Given the description of an element on the screen output the (x, y) to click on. 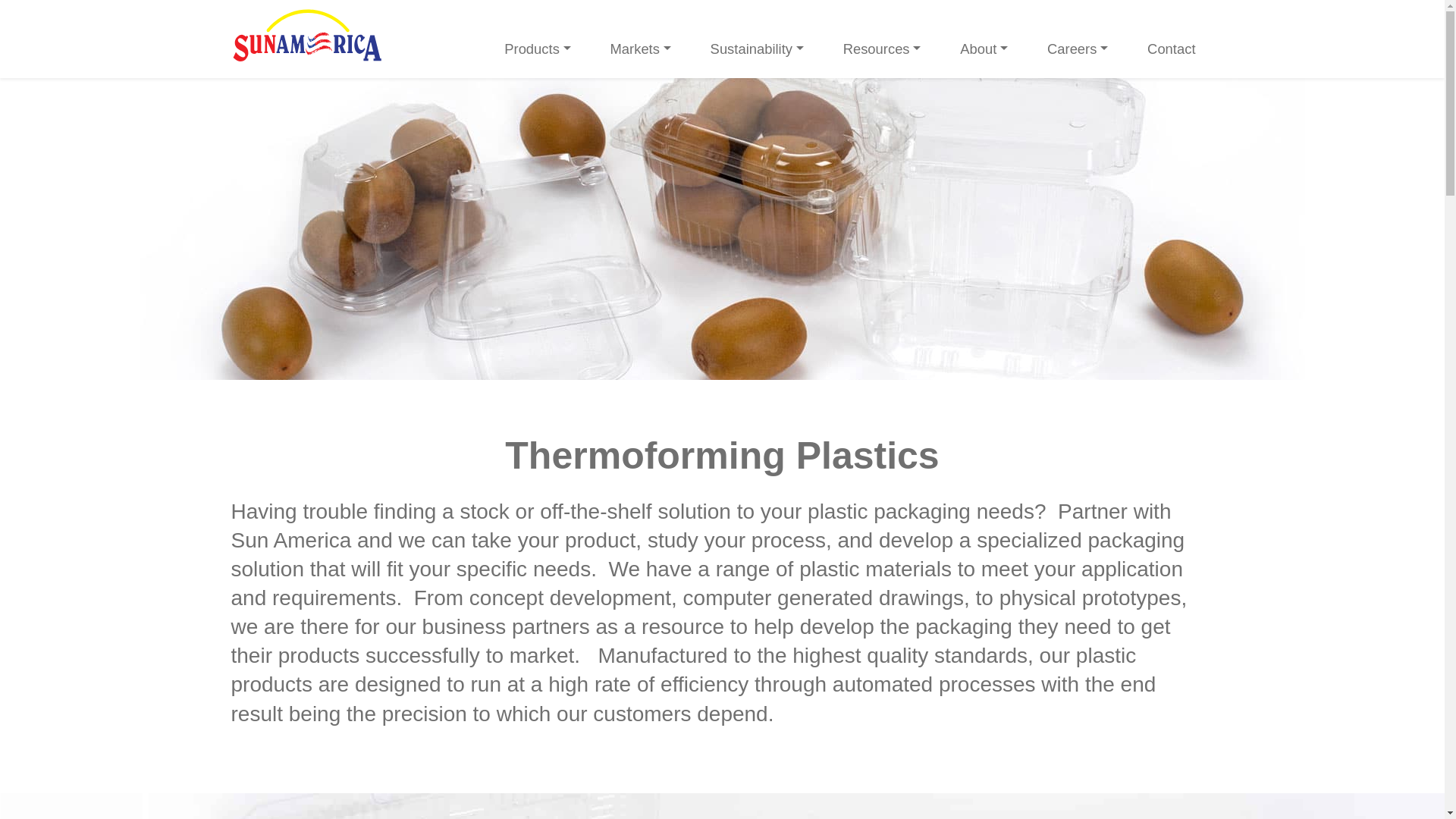
Contact (1171, 48)
Products (536, 48)
Resources (882, 48)
Sustainability (756, 48)
Products (536, 48)
Markets (640, 48)
Sustainability (756, 48)
Markets (640, 48)
Careers (1077, 48)
About (983, 48)
